Given the description of an element on the screen output the (x, y) to click on. 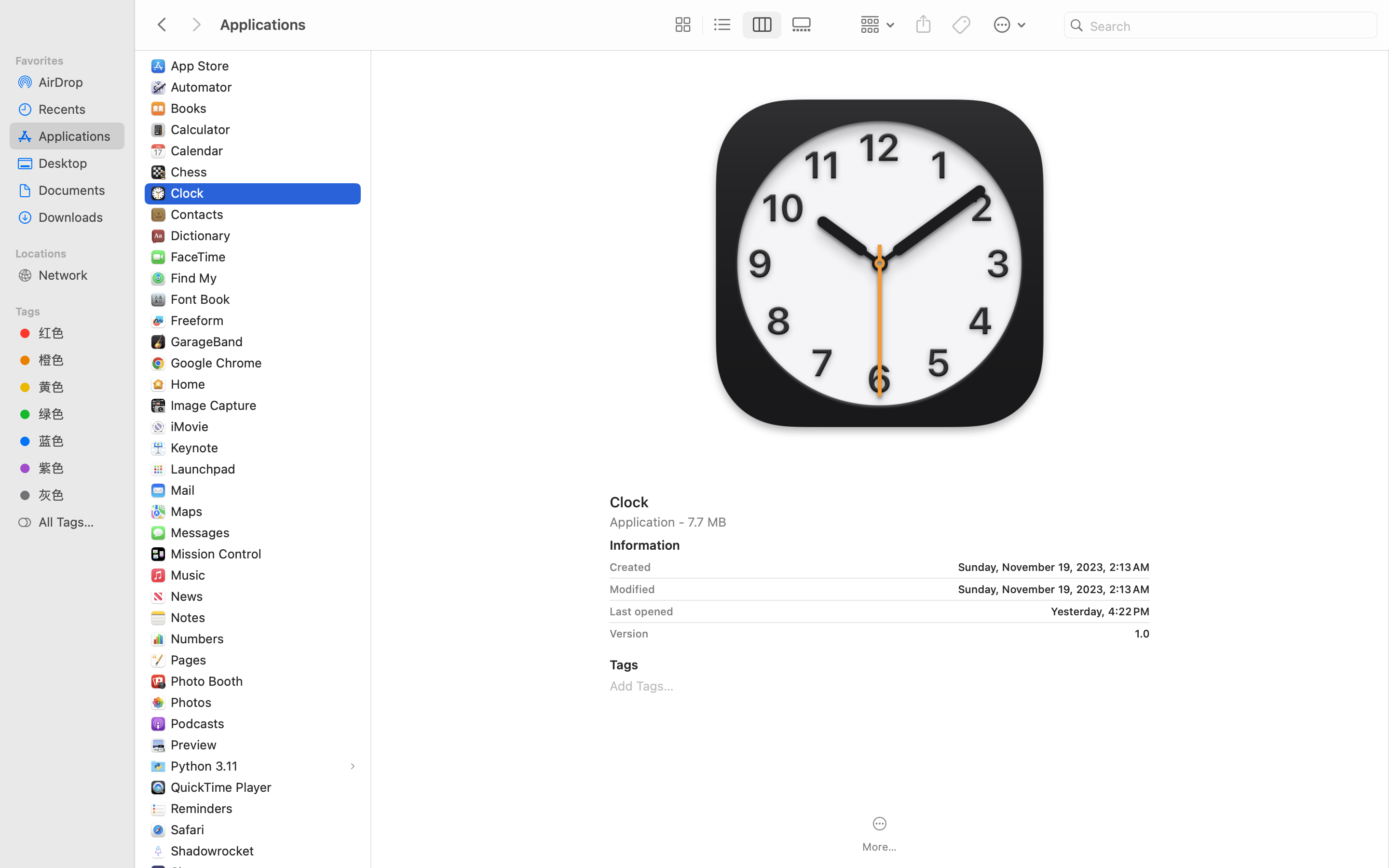
Photo Booth Element type: AXTextField (208, 680)
Podcasts Element type: AXTextField (199, 723)
黄色 Element type: AXStaticText (77, 386)
Clock Element type: AXStaticText (879, 501)
Calculator Element type: AXTextField (202, 128)
